Given the description of an element on the screen output the (x, y) to click on. 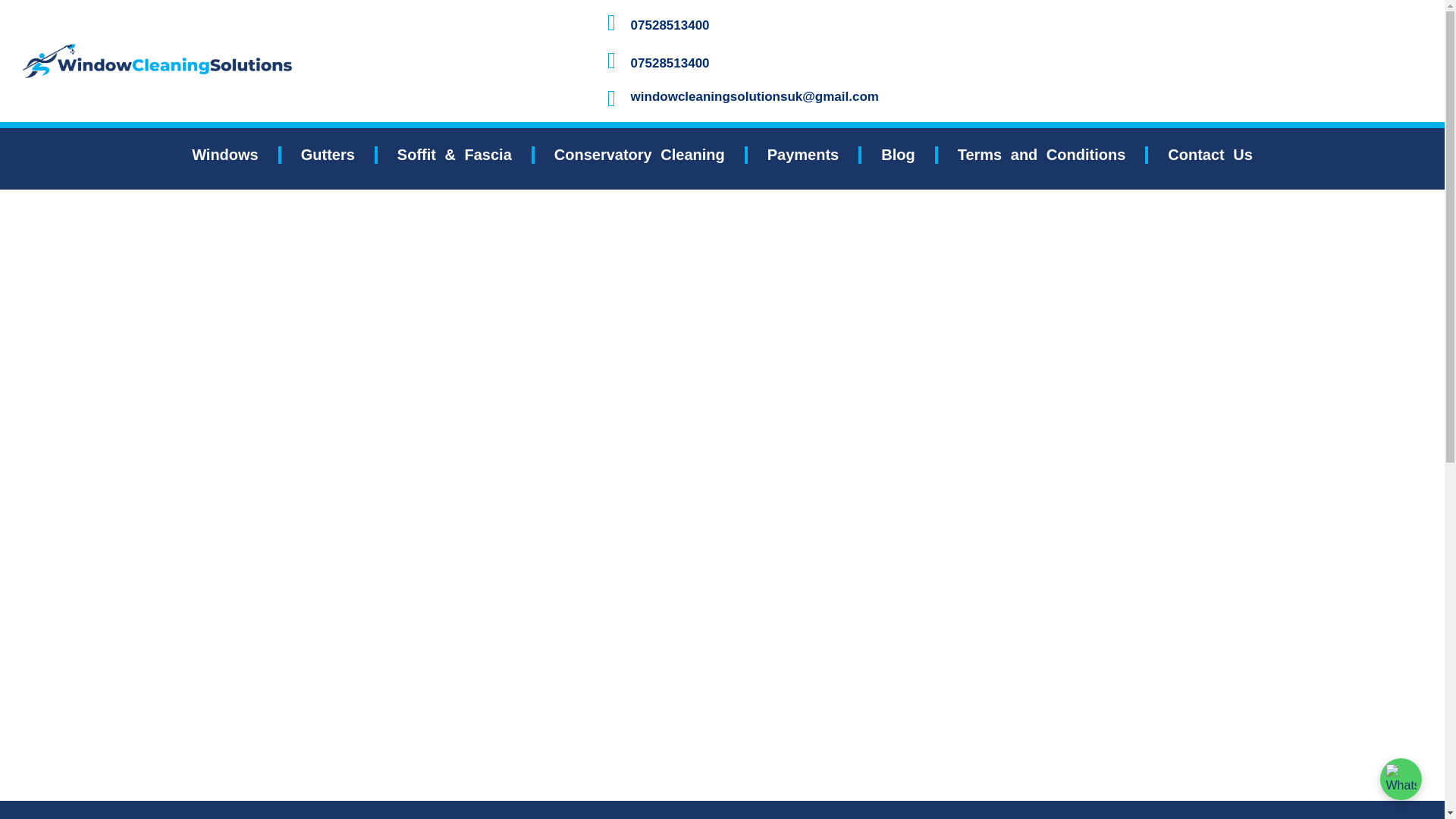
Payments (803, 154)
Gutters (328, 154)
07528513400 (670, 25)
Windows (225, 154)
Conservatory Cleaning (639, 154)
Terms and Conditions (1041, 154)
Contact Us (1209, 154)
07528513400 (670, 63)
